Given the description of an element on the screen output the (x, y) to click on. 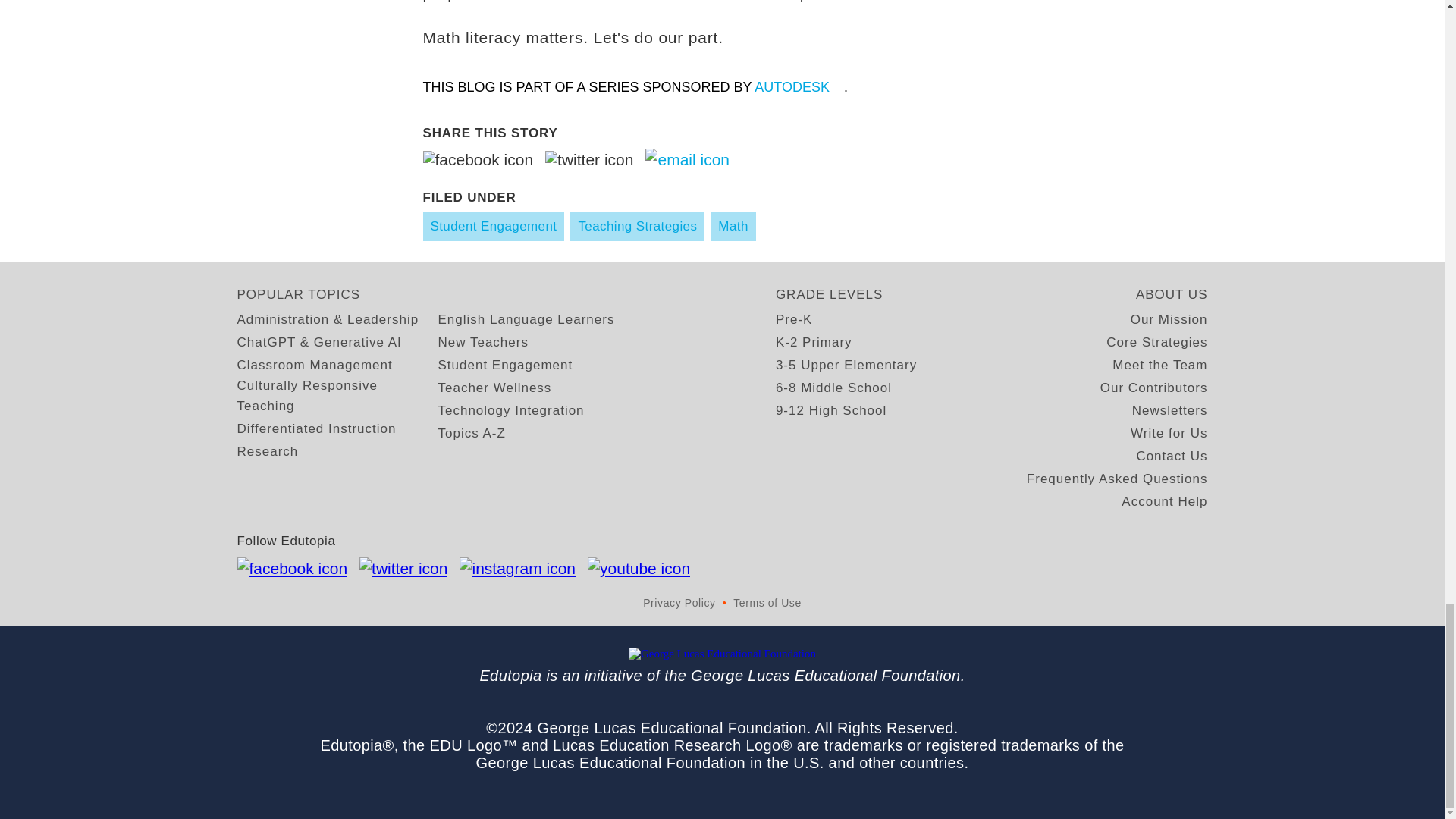
Student Engagement (493, 225)
AUTODESK (799, 87)
Classroom Management (313, 364)
Teaching Strategies (637, 225)
Student Engagement (505, 364)
Research (266, 451)
English Language Learners (526, 319)
Math (732, 225)
New Teachers (483, 342)
Differentiated Instruction (315, 428)
Culturally Responsive Teaching (336, 395)
